Given the description of an element on the screen output the (x, y) to click on. 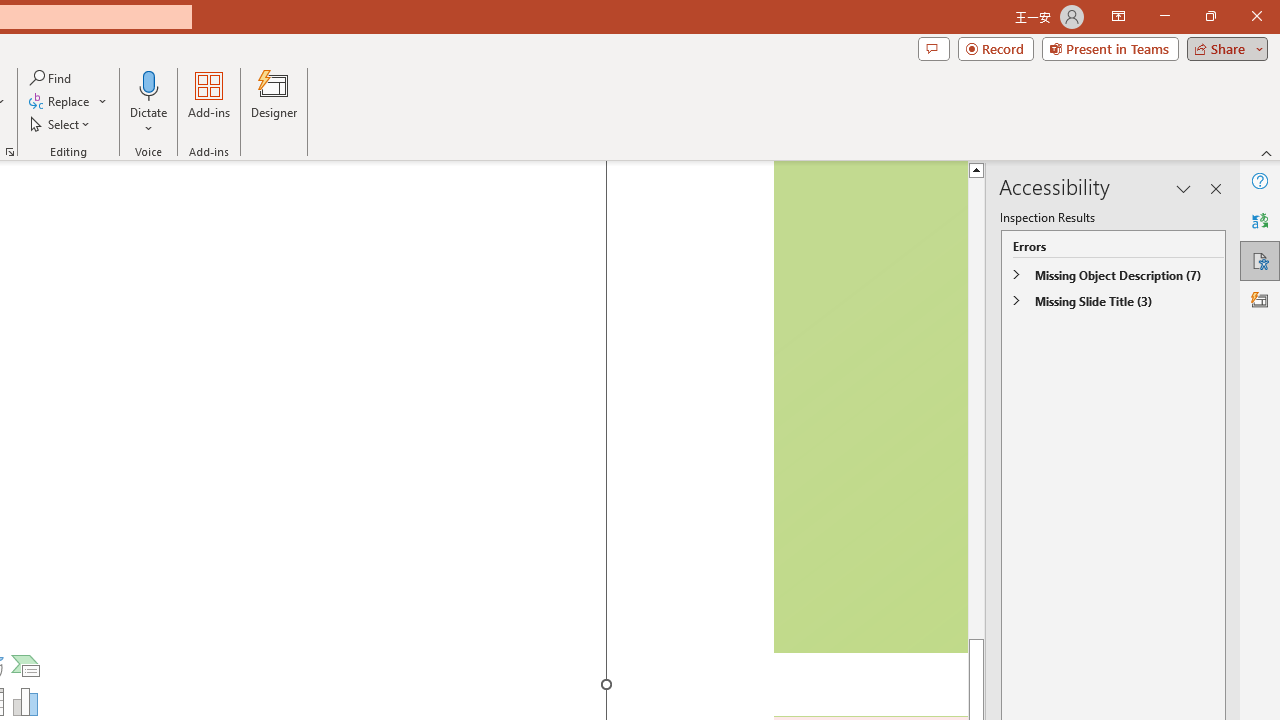
Camera 5, No camera detected. (869, 407)
